Given the description of an element on the screen output the (x, y) to click on. 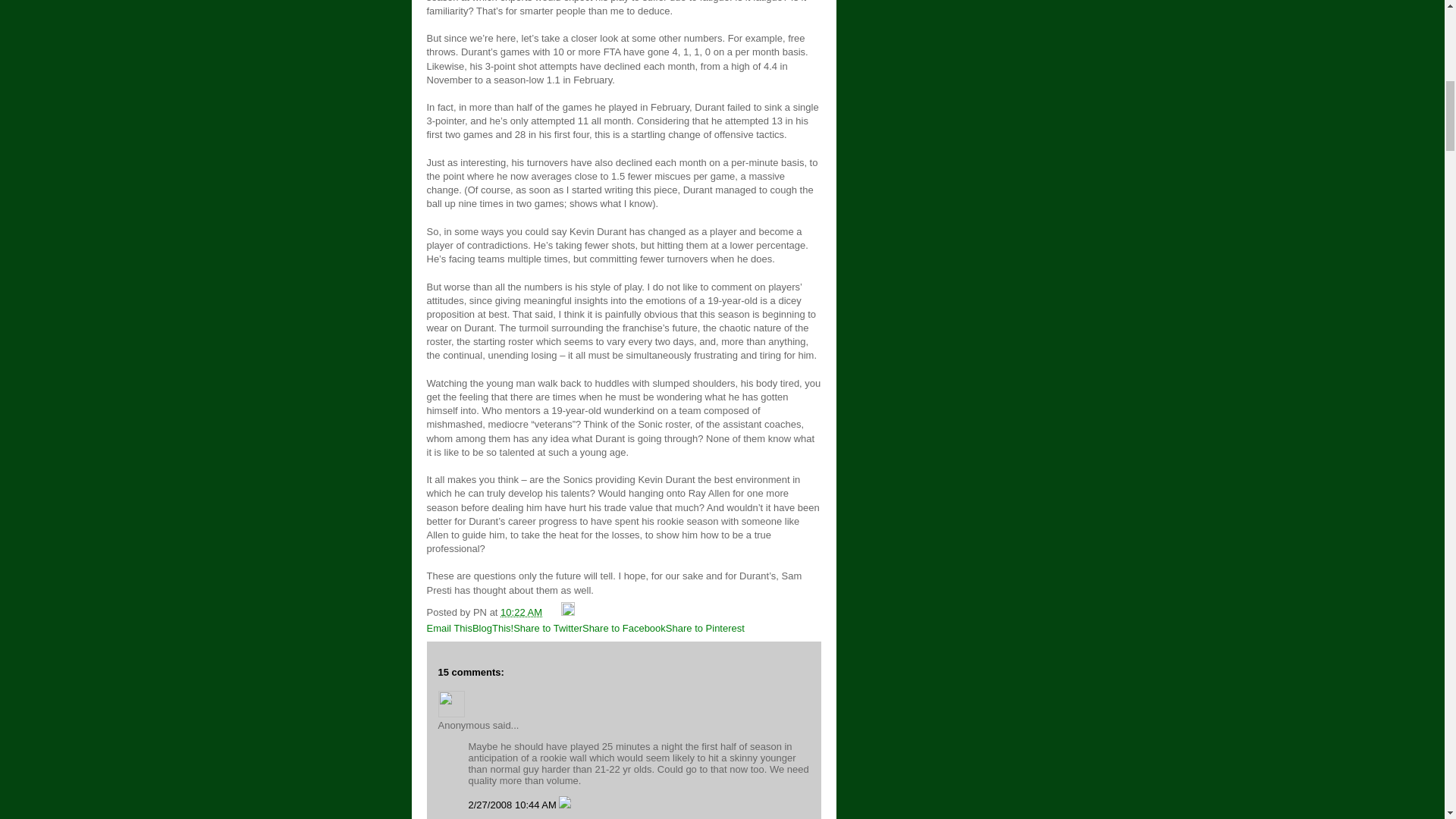
permanent link (520, 612)
BlogThis! (492, 627)
Share to Twitter (547, 627)
BlogThis! (492, 627)
Anonymous (451, 704)
Share to Facebook (623, 627)
Email Post (553, 612)
Edit Post (567, 612)
10:22 AM (520, 612)
Share to Pinterest (704, 627)
Share to Facebook (623, 627)
Share to Pinterest (704, 627)
Delete Comment (564, 804)
Email This (448, 627)
Email This (448, 627)
